Given the description of an element on the screen output the (x, y) to click on. 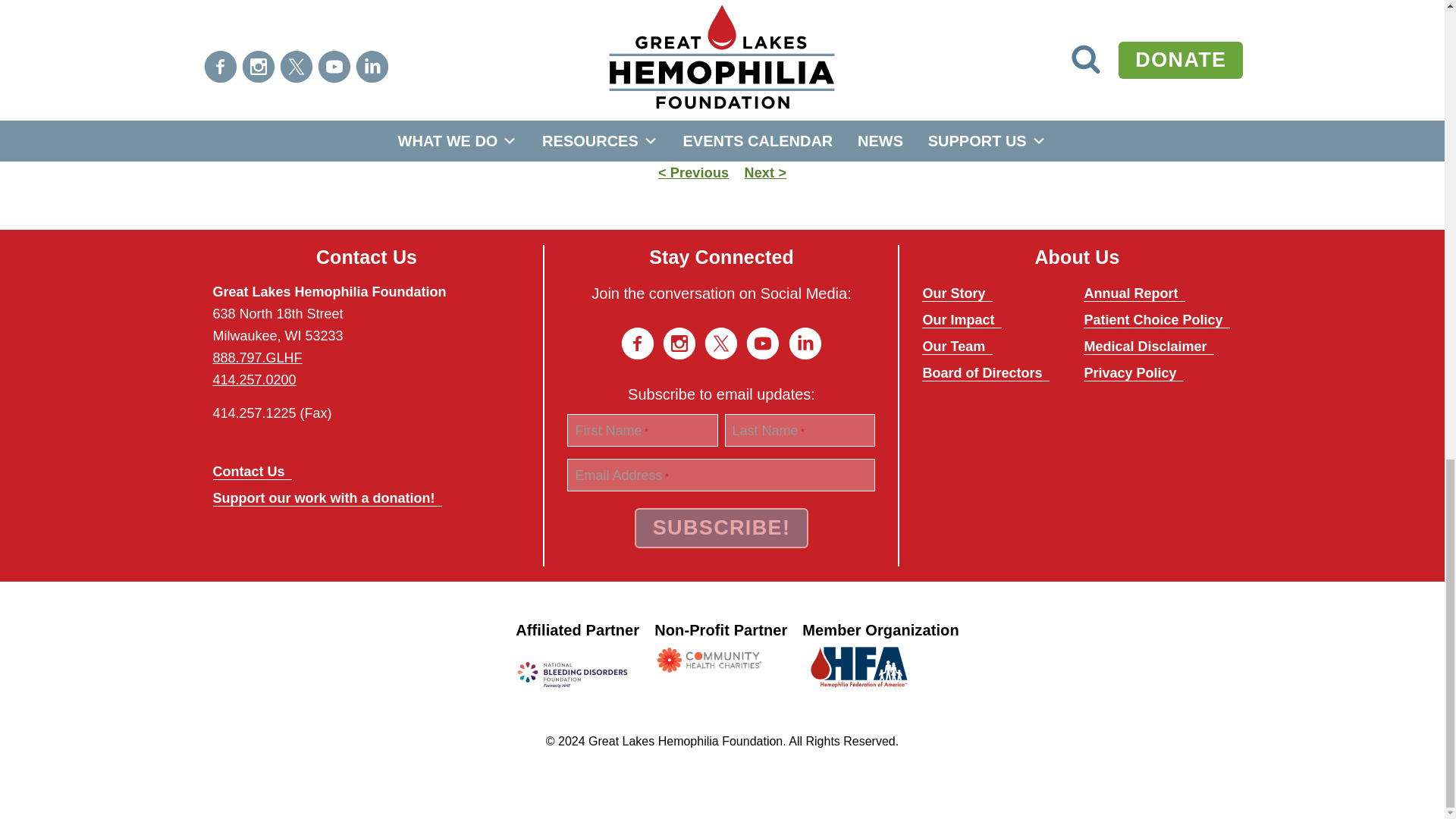
Subscribe! (721, 527)
Great Lakes Hemophilia Foundation on instagram (678, 343)
Great Lakes Hemophilia Foundation on LinkedIn (805, 343)
Back to all News (721, 139)
Great Lakes Hemophilia Foundation on Facebook (637, 343)
Great Lakes Hemophilia Foundation on Twitter (721, 343)
Great Lakes Hemophilia Foundation on youtube (761, 343)
